Given the description of an element on the screen output the (x, y) to click on. 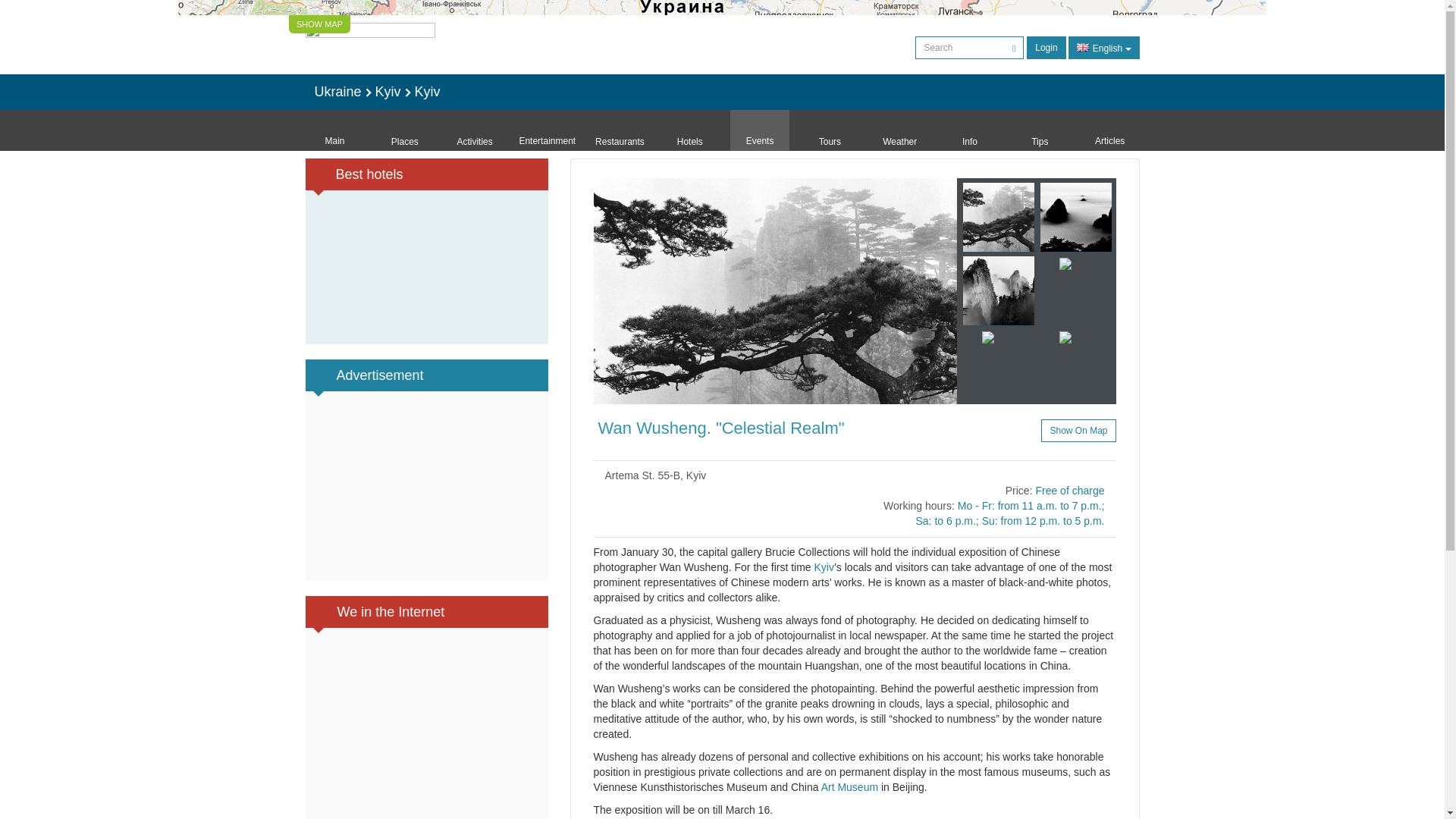
Favorites (999, 429)
